Given the description of an element on the screen output the (x, y) to click on. 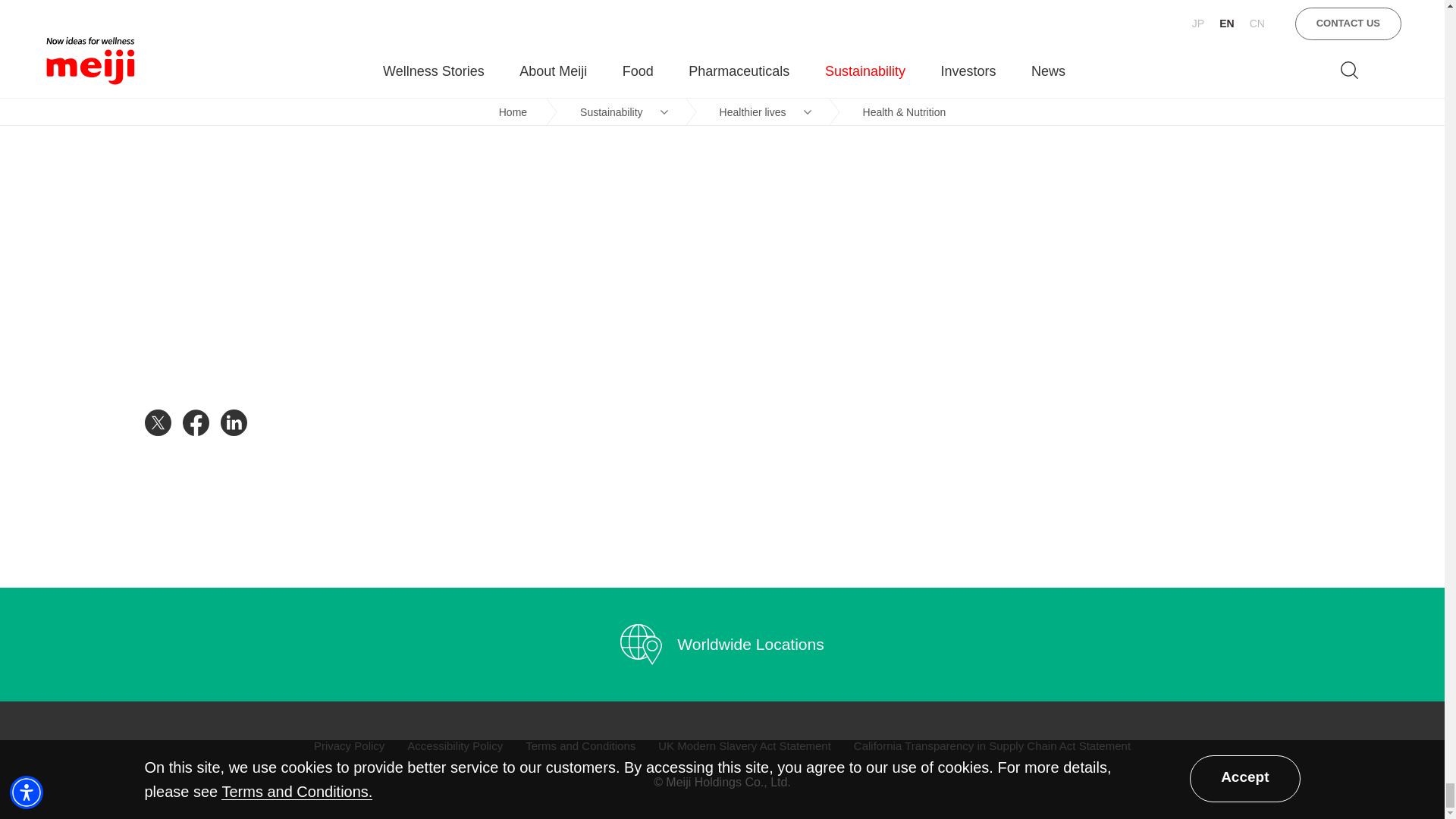
Twitter (163, 422)
